Given the description of an element on the screen output the (x, y) to click on. 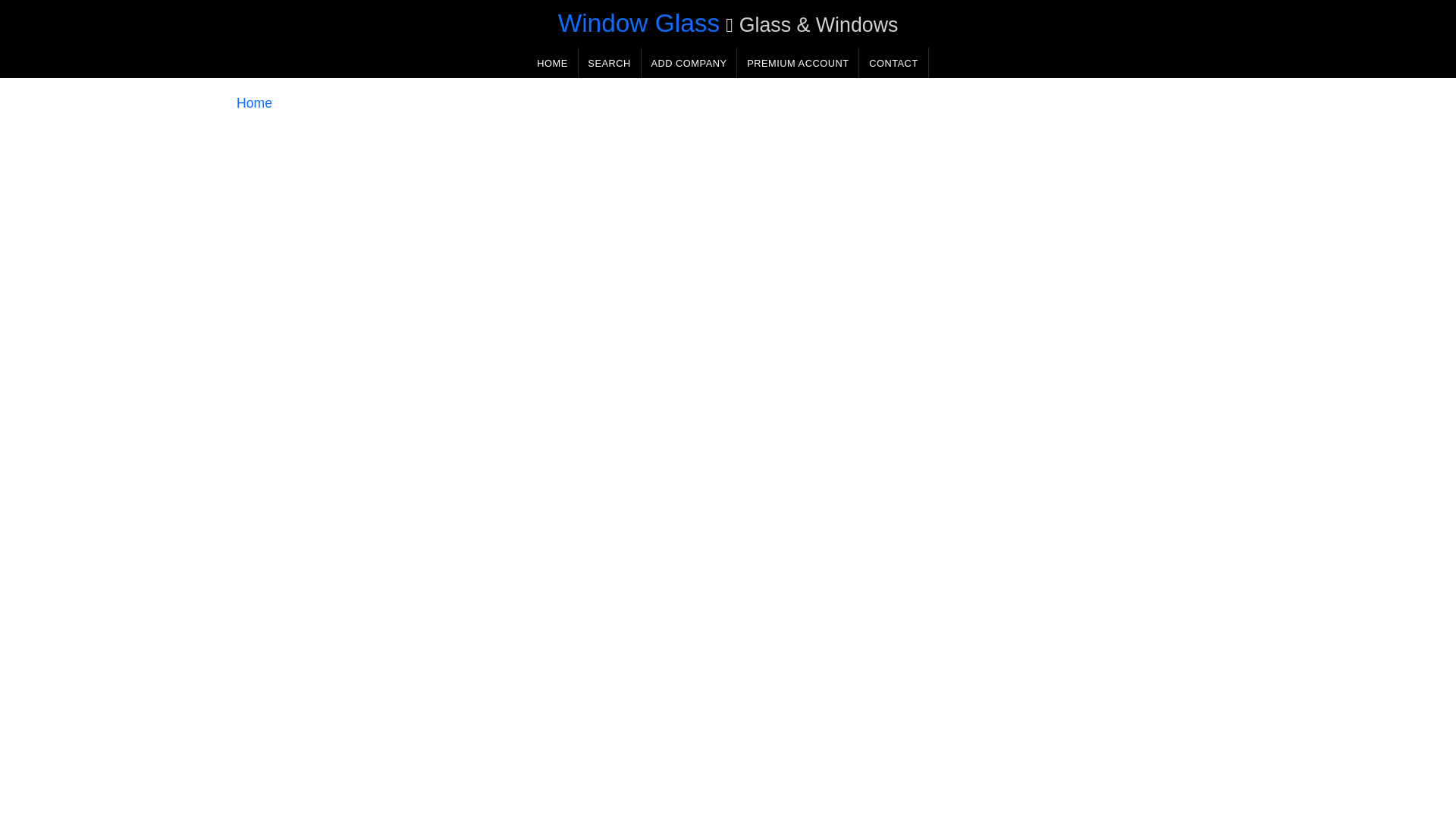
ADD COMPANY (689, 62)
PREMIUM ACCOUNT (797, 62)
SEARCH (609, 62)
Premium account (797, 62)
Search in this webseite. (609, 62)
Home (253, 102)
Add a new company (689, 62)
Window Glass (638, 22)
HOME (551, 62)
